Given the description of an element on the screen output the (x, y) to click on. 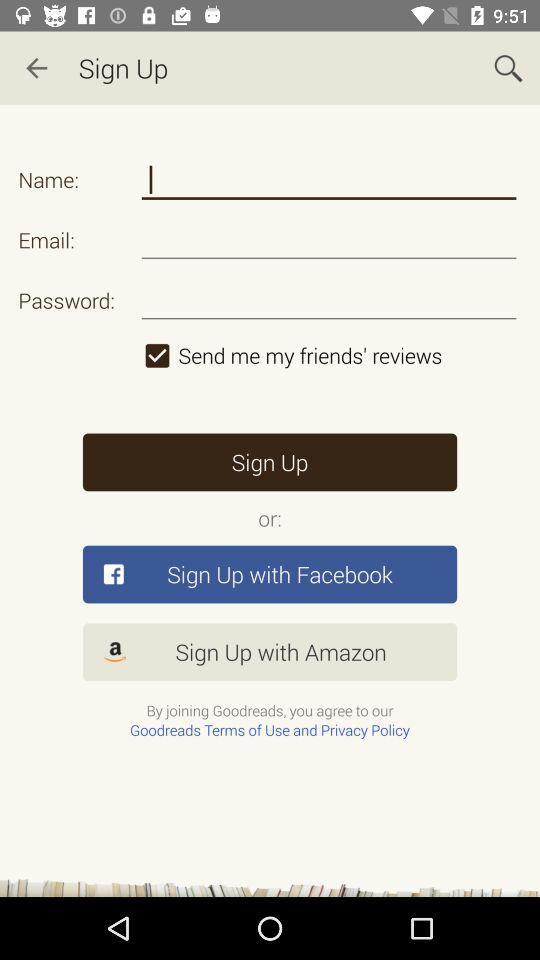
tap item next to sign up app (36, 68)
